Given the description of an element on the screen output the (x, y) to click on. 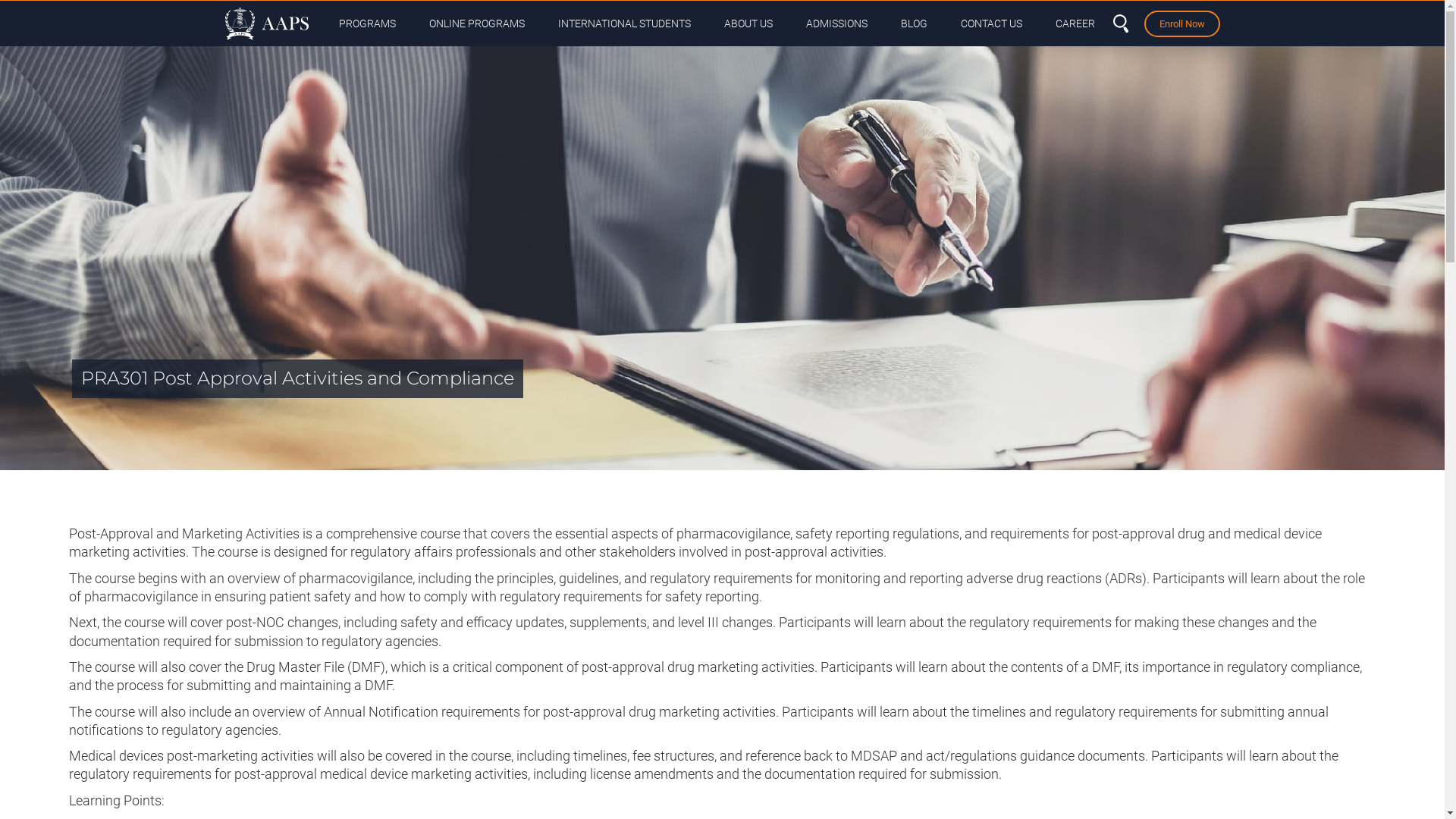
ABOUT US Element type: text (747, 23)
ADMISSIONS Element type: text (835, 23)
Enroll Now Element type: text (1181, 23)
PROGRAMS Element type: text (366, 23)
CONTACT US Element type: text (990, 23)
ONLINE PROGRAMS Element type: text (476, 23)
INTERNATIONAL STUDENTS Element type: text (624, 23)
CAREER Element type: text (1075, 23)
BLOG Element type: text (913, 23)
